Given the description of an element on the screen output the (x, y) to click on. 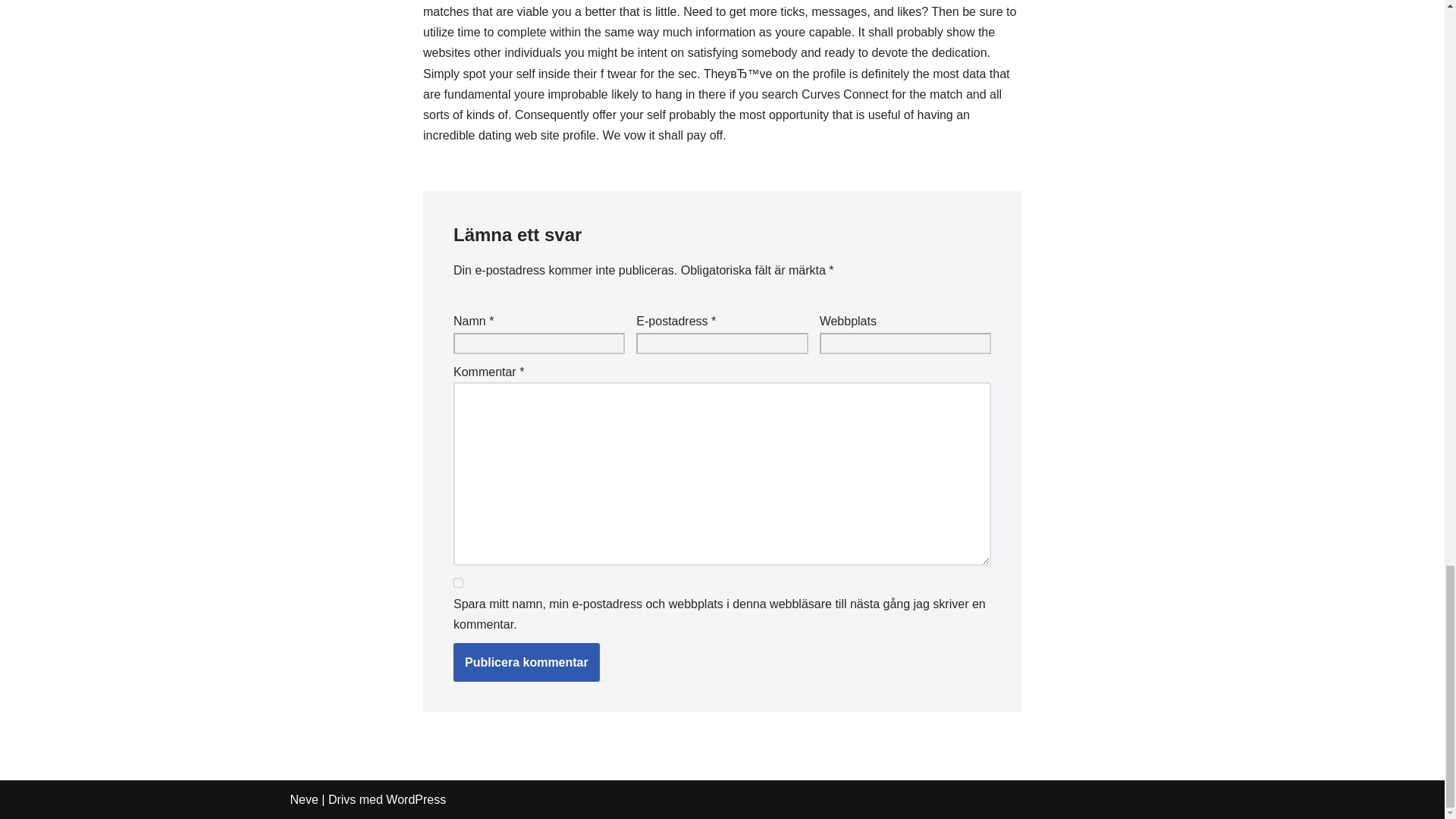
Publicera kommentar (525, 662)
Neve (303, 799)
Publicera kommentar (525, 662)
WordPress (415, 799)
yes (457, 583)
